Given the description of an element on the screen output the (x, y) to click on. 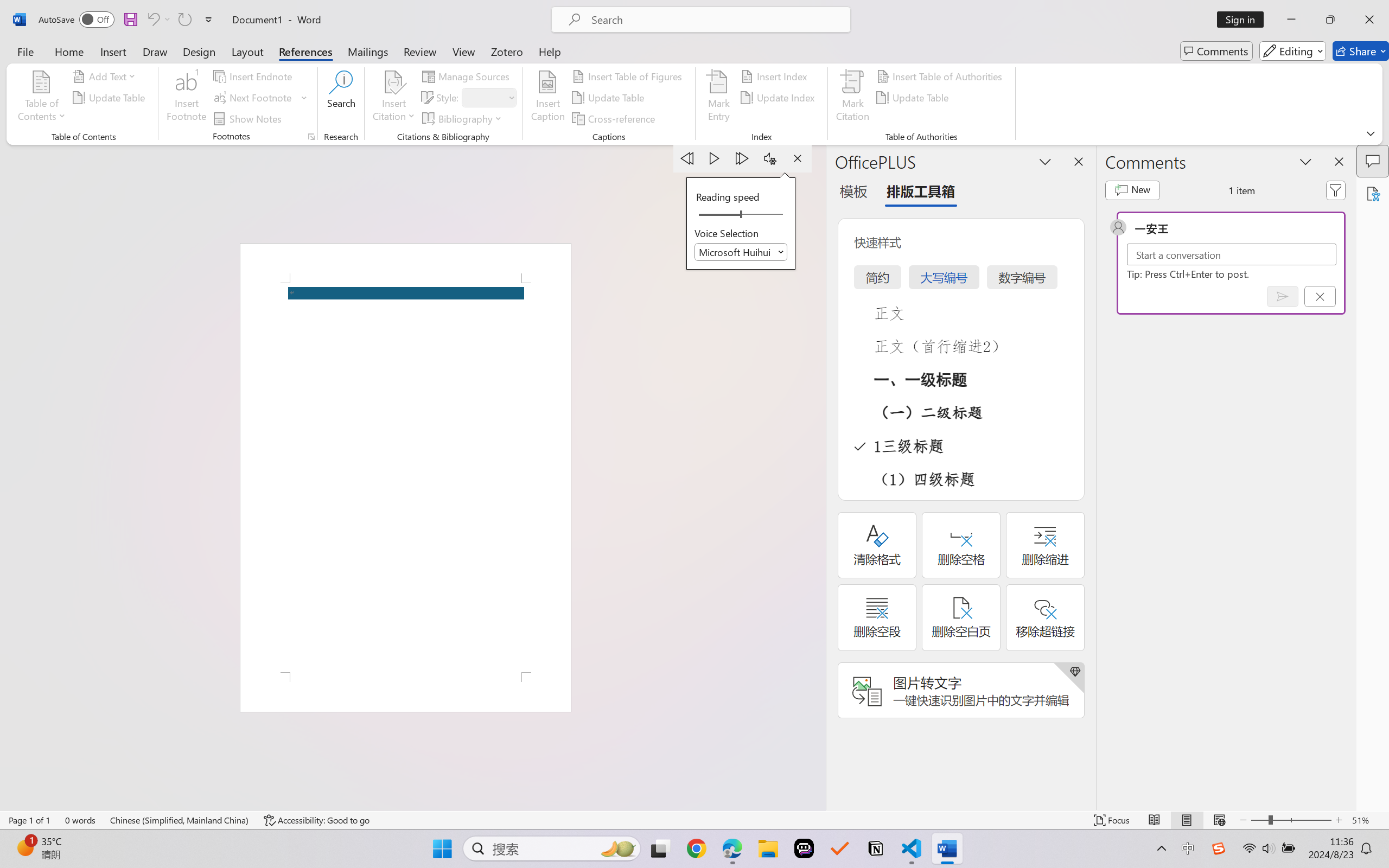
Show Notes (248, 118)
Post comment (Ctrl + Enter) (1282, 296)
Page left (716, 214)
Next Footnote (253, 97)
Settings (770, 158)
Footnote and Endnote Dialog... (311, 136)
